Given the description of an element on the screen output the (x, y) to click on. 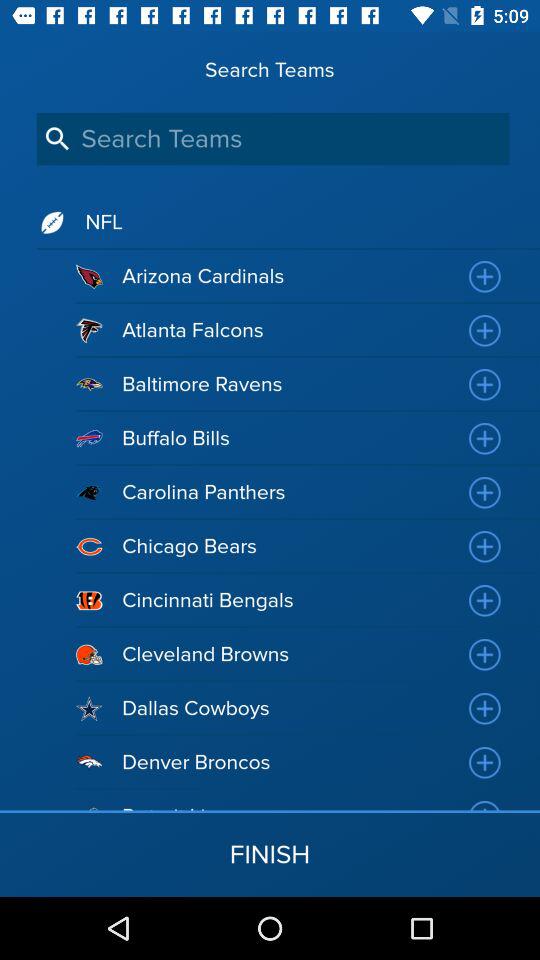
select the finish item (270, 854)
